Given the description of an element on the screen output the (x, y) to click on. 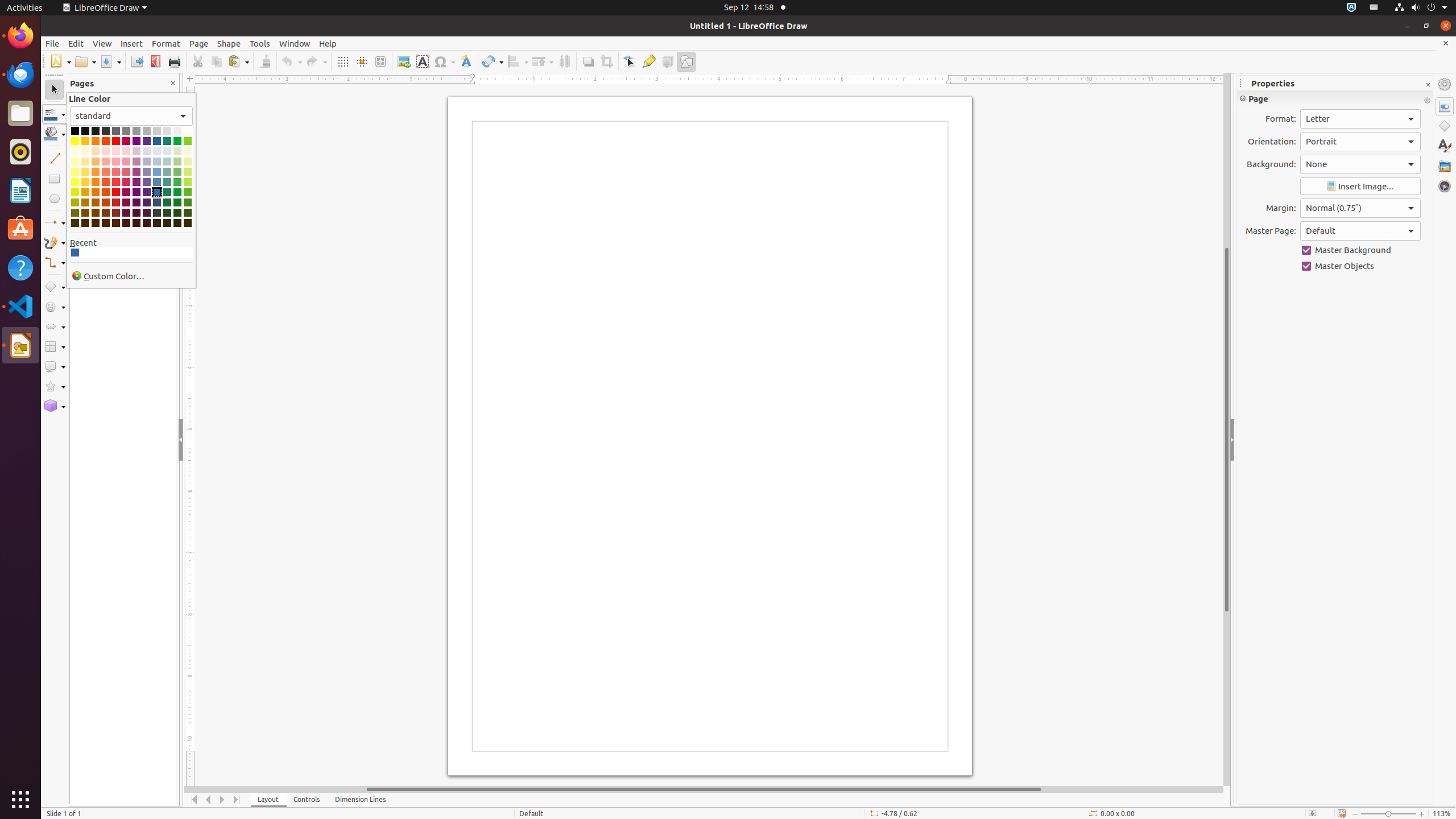
Yellow Element type: list-item (74, 140)
Dark Gold 1 Element type: list-item (85, 192)
Dark Indigo 3 Element type: list-item (146, 212)
Light Brick 2 Element type: list-item (105, 171)
Dark Lime 2 Element type: list-item (187, 202)
